Given the description of an element on the screen output the (x, y) to click on. 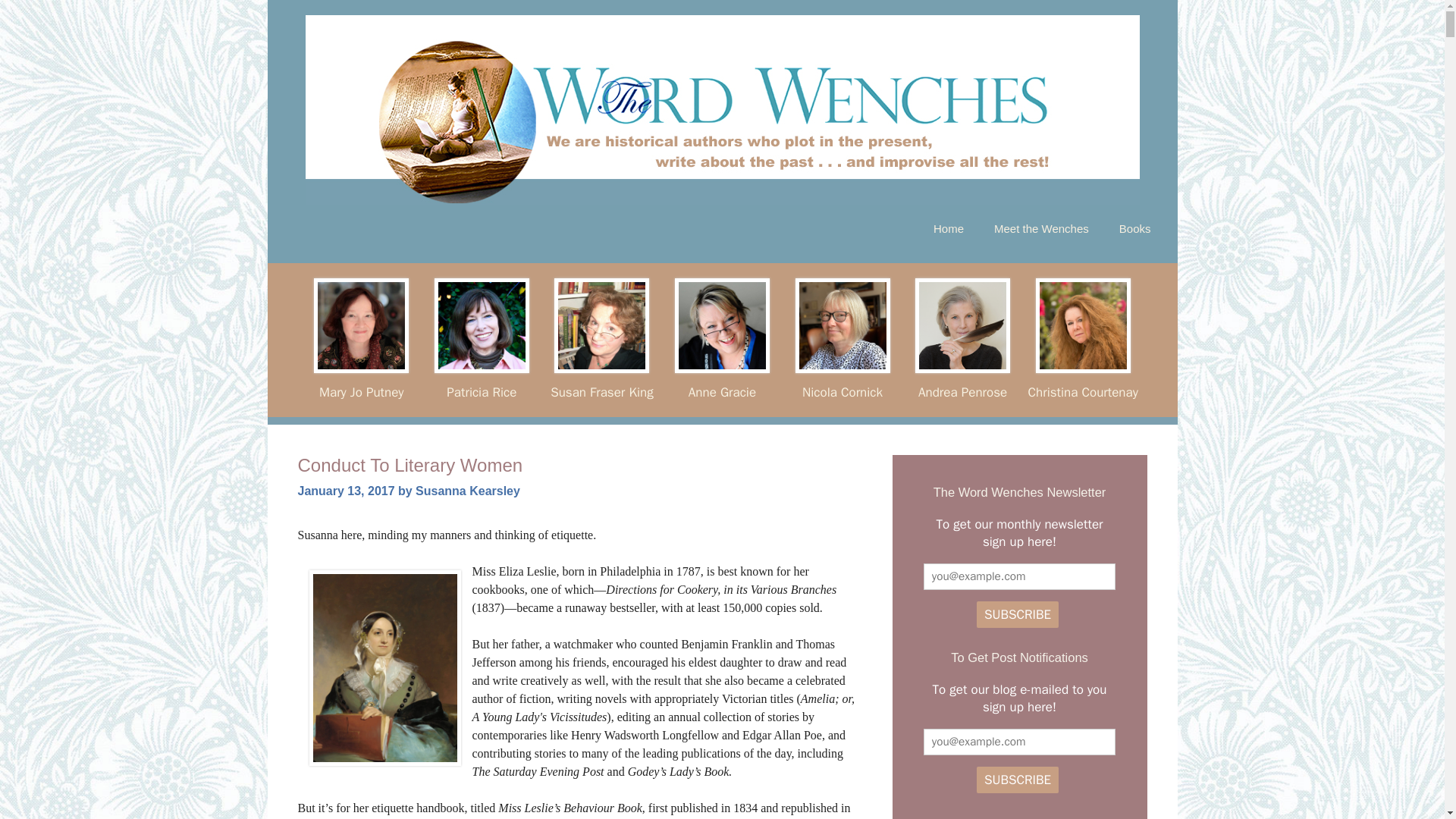
Subscribe (1017, 779)
Andrea Penrose (962, 391)
Home (948, 228)
Anne Gracie (721, 391)
Mary Jo Putney (360, 391)
Susan Fraser King (601, 391)
Patricia Rice (481, 391)
Christina Courtenay (1082, 391)
View all posts by Susanna Kearsley (466, 490)
Books (1134, 228)
Subscribe (1017, 614)
Susanna Kearsley (466, 490)
Nicola Cornick (842, 391)
Meet the Wenches (1040, 228)
